Given the description of an element on the screen output the (x, y) to click on. 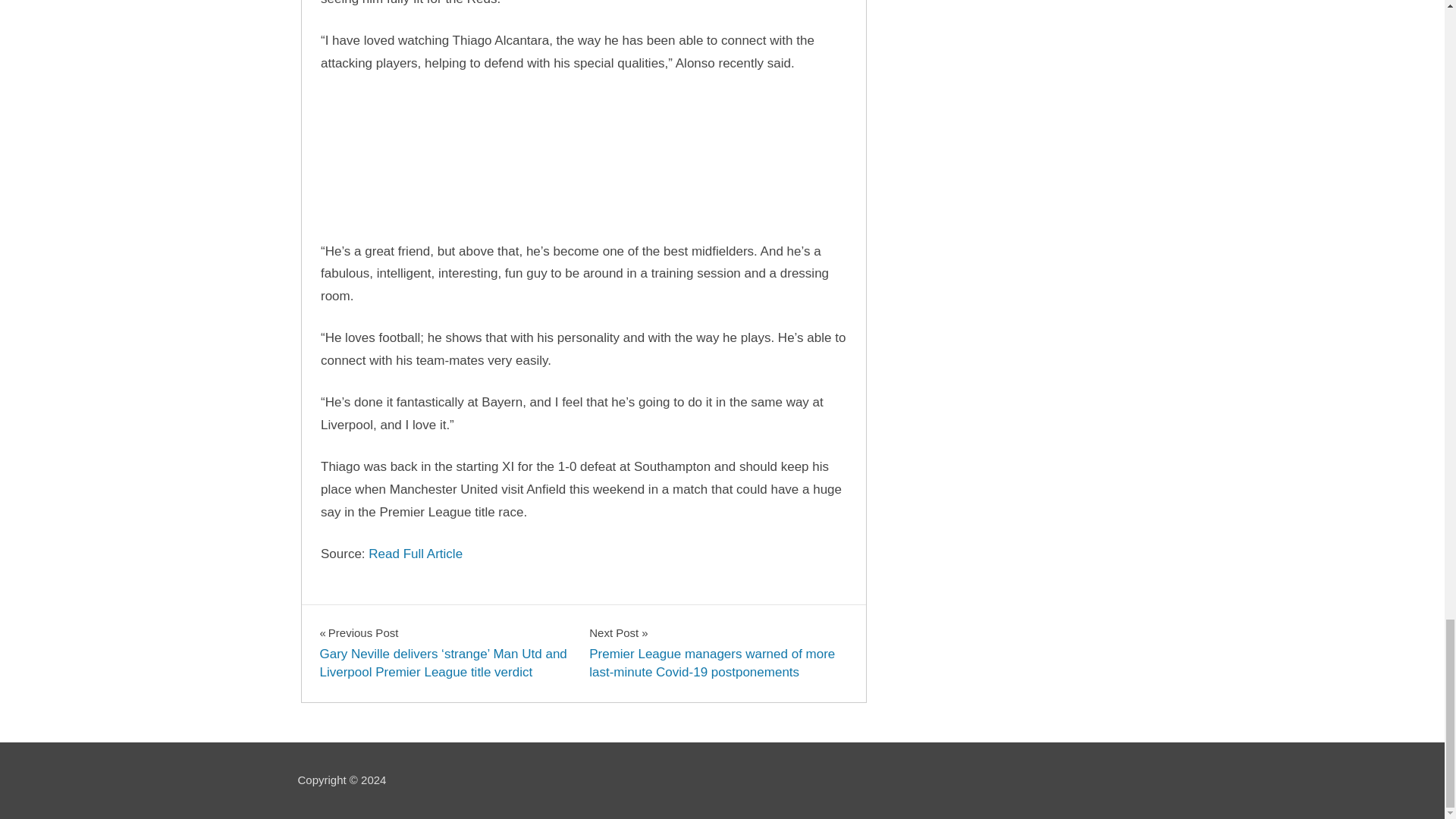
SOCCER (351, 619)
Read Full Article (415, 554)
